Given the description of an element on the screen output the (x, y) to click on. 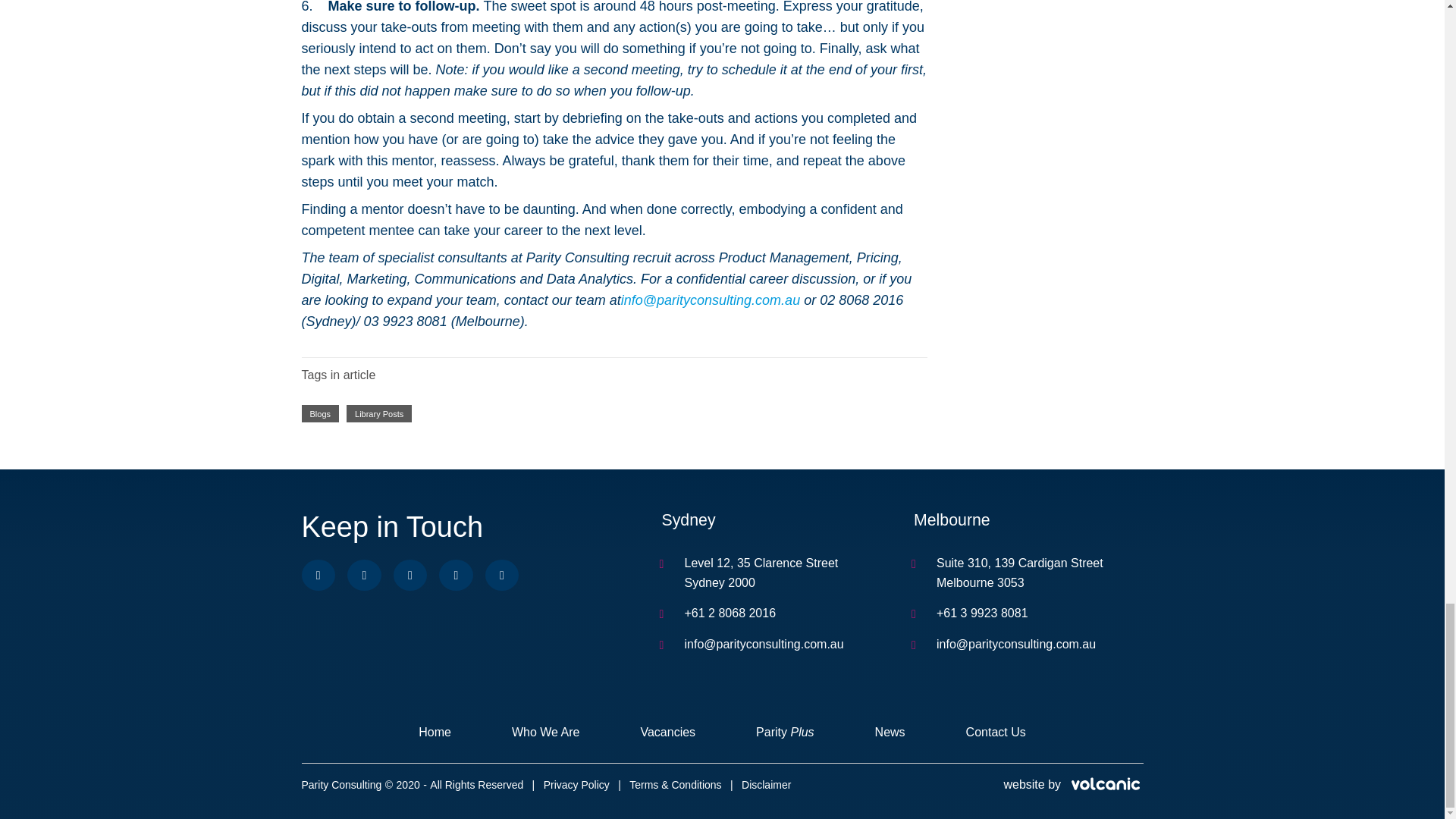
Library Posts (379, 413)
Volcanic (1104, 785)
Blogs (320, 413)
